Given the description of an element on the screen output the (x, y) to click on. 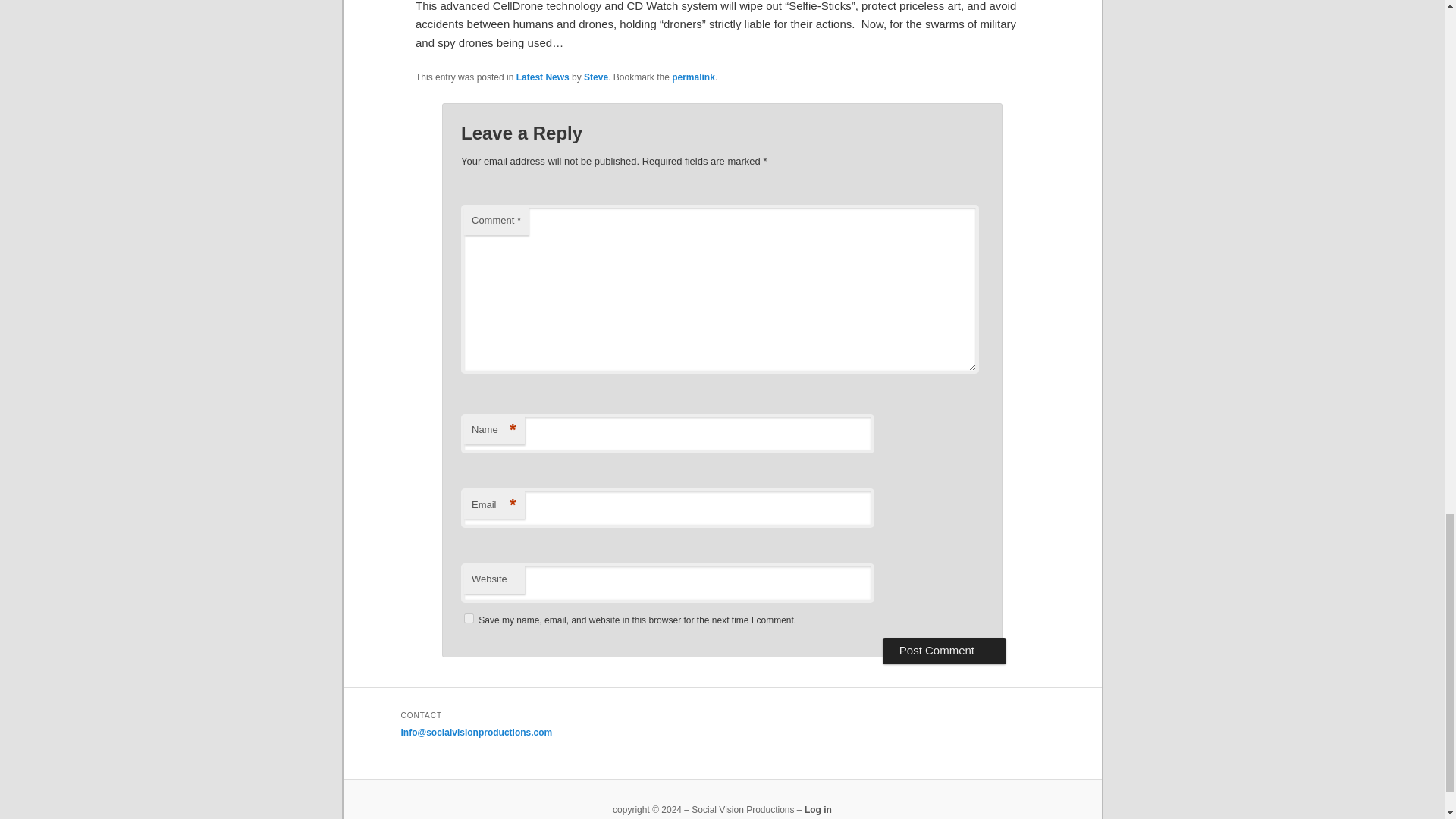
Permalink to From Apple Watches to Cell Drones? (692, 77)
permalink (692, 77)
Steve (595, 77)
Post Comment (944, 650)
yes (469, 618)
Log in (818, 809)
Latest News (542, 77)
Post Comment (944, 650)
